Given the description of an element on the screen output the (x, y) to click on. 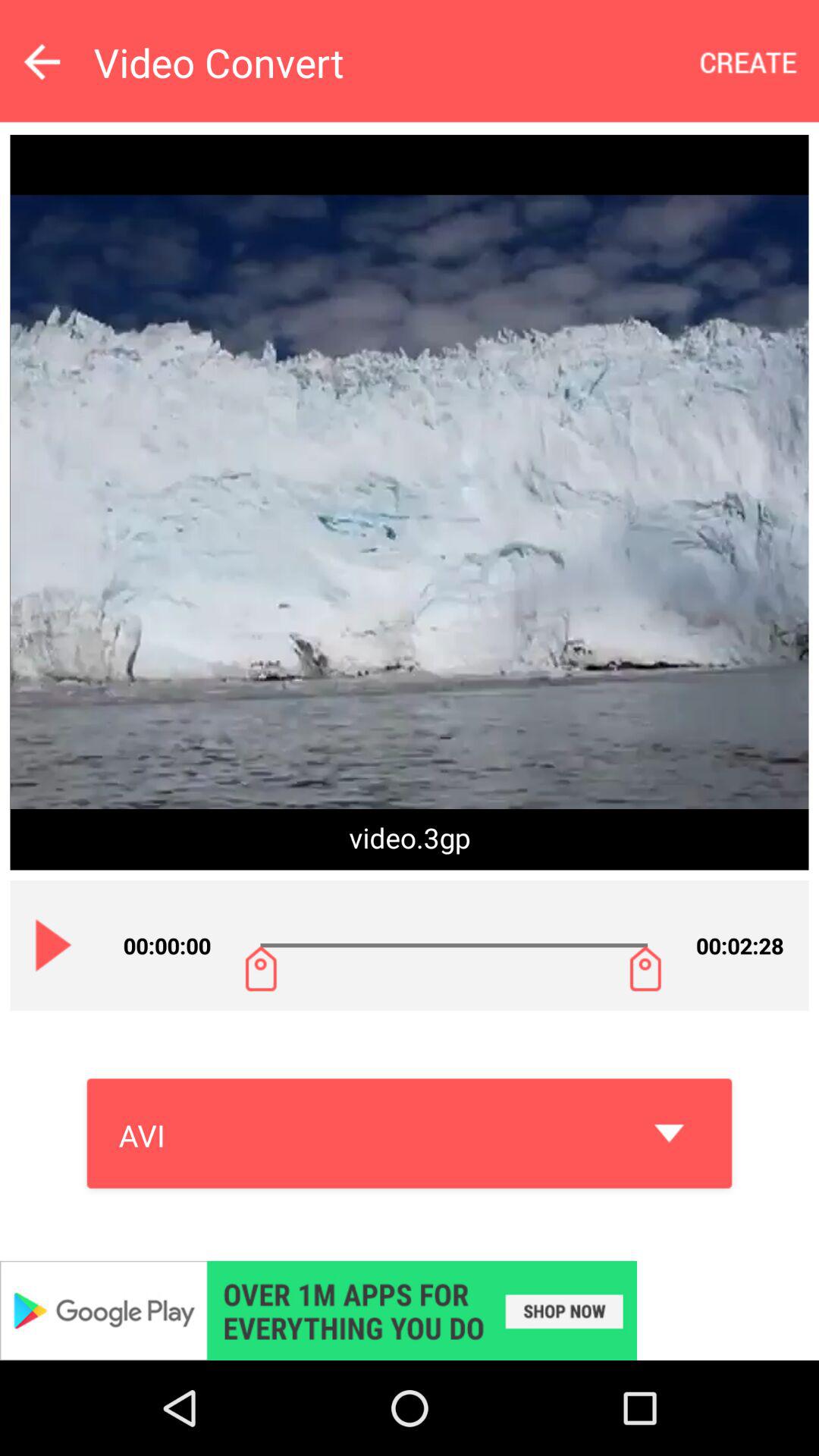
tap to create (749, 62)
